Given the description of an element on the screen output the (x, y) to click on. 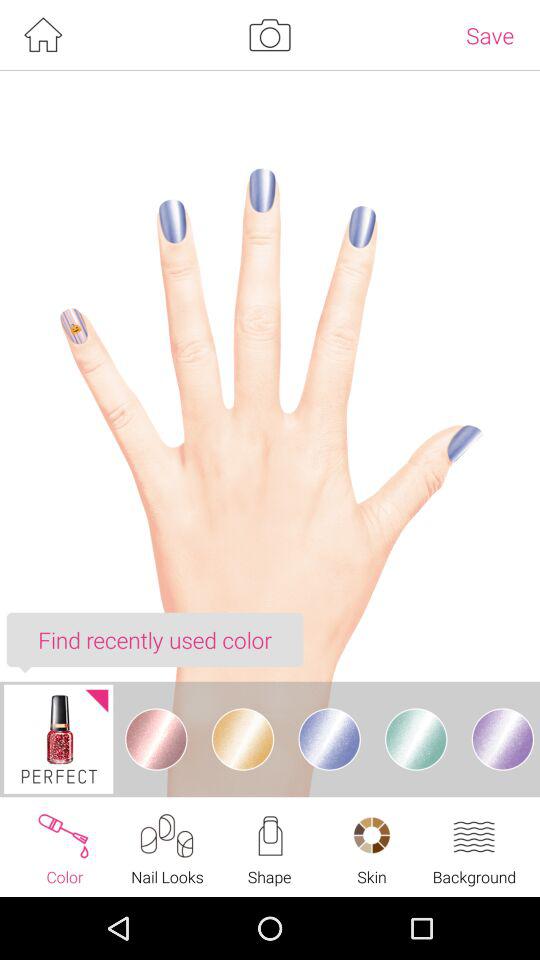
select the save at the top right corner (490, 35)
